Given the description of an element on the screen output the (x, y) to click on. 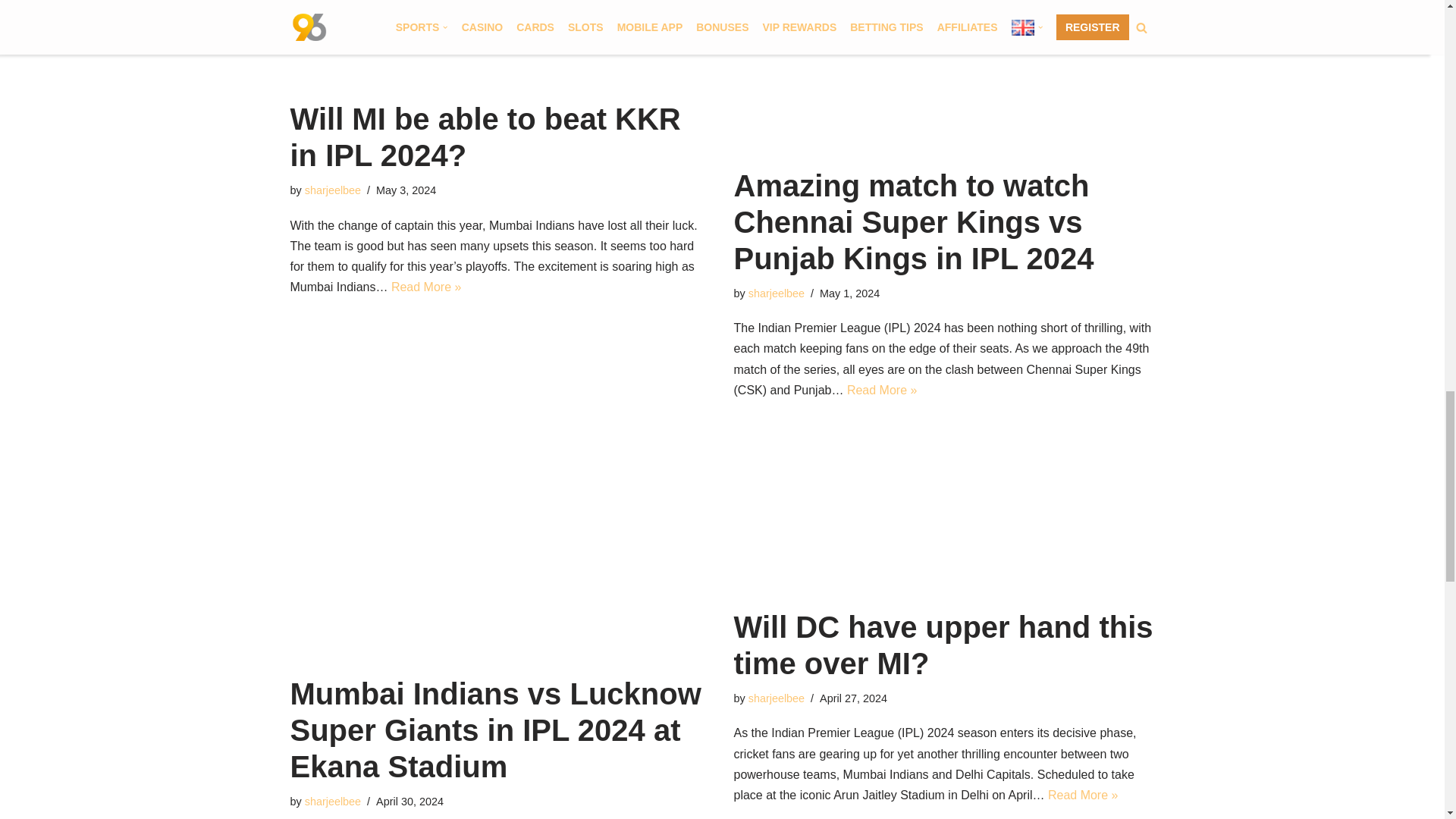
Posts by sharjeelbee (332, 190)
Will MI be able to beat KKR in IPL 2024? (499, 42)
Posts by sharjeelbee (776, 293)
